Given the description of an element on the screen output the (x, y) to click on. 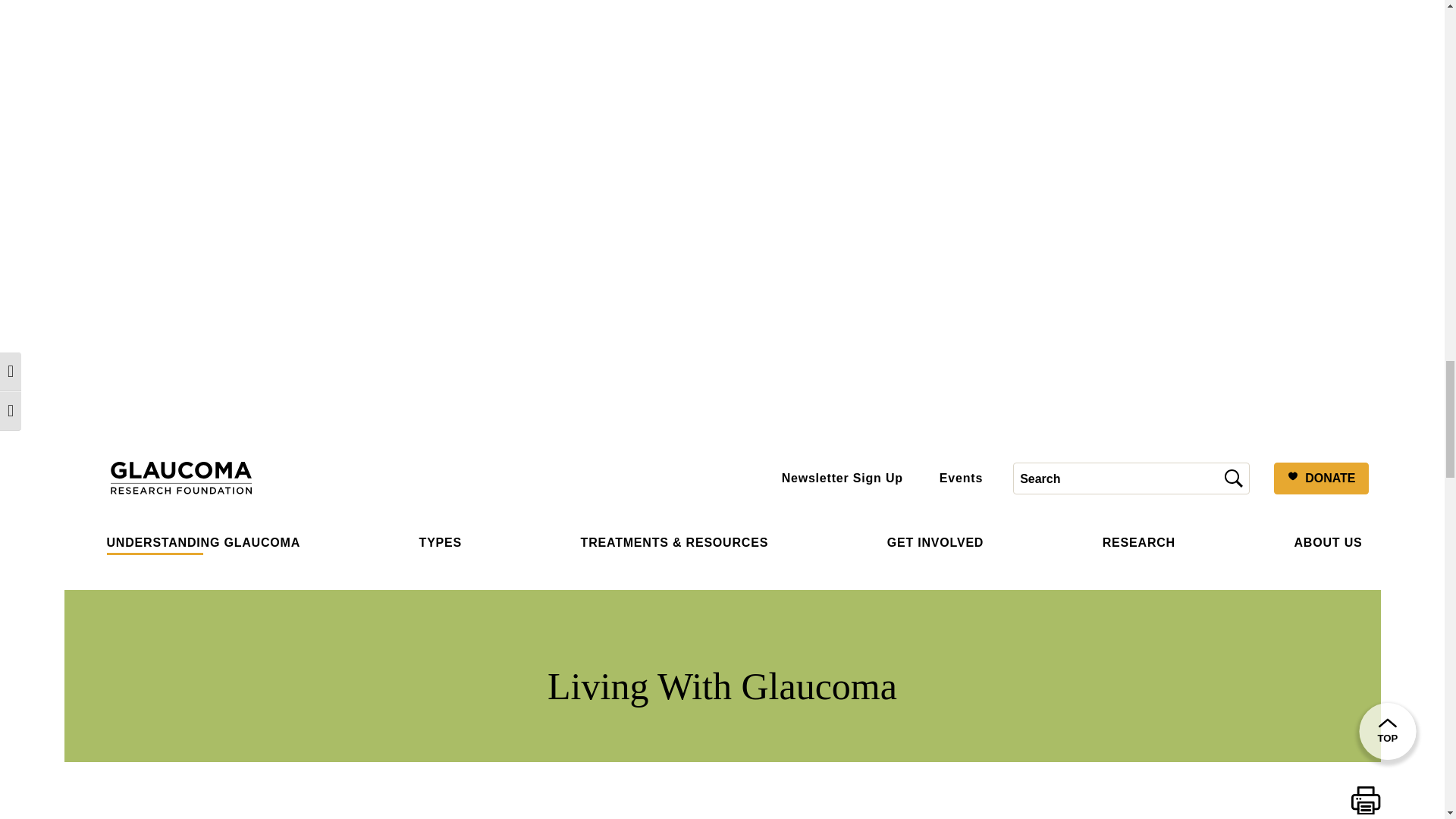
Newsletter Sign Up (841, 478)
DONATE (1321, 478)
Events (960, 478)
